Given the description of an element on the screen output the (x, y) to click on. 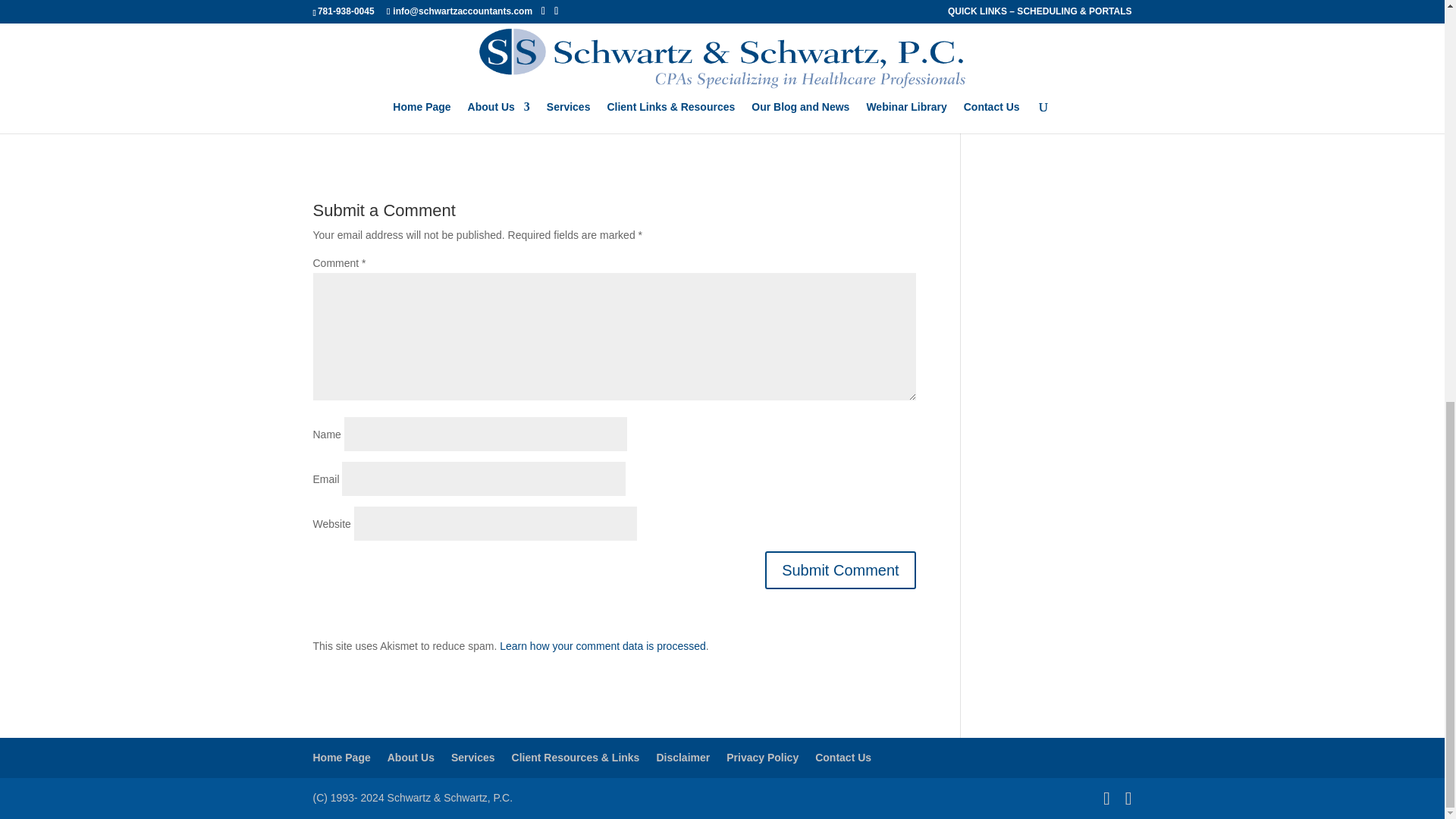
Home Page (341, 757)
Privacy Policy (761, 757)
Submit Comment (840, 569)
Contact Us (842, 757)
About Us (410, 757)
Services (473, 757)
Submit Comment (840, 569)
Learn how your comment data is processed (602, 645)
Disclaimer (683, 757)
